Given the description of an element on the screen output the (x, y) to click on. 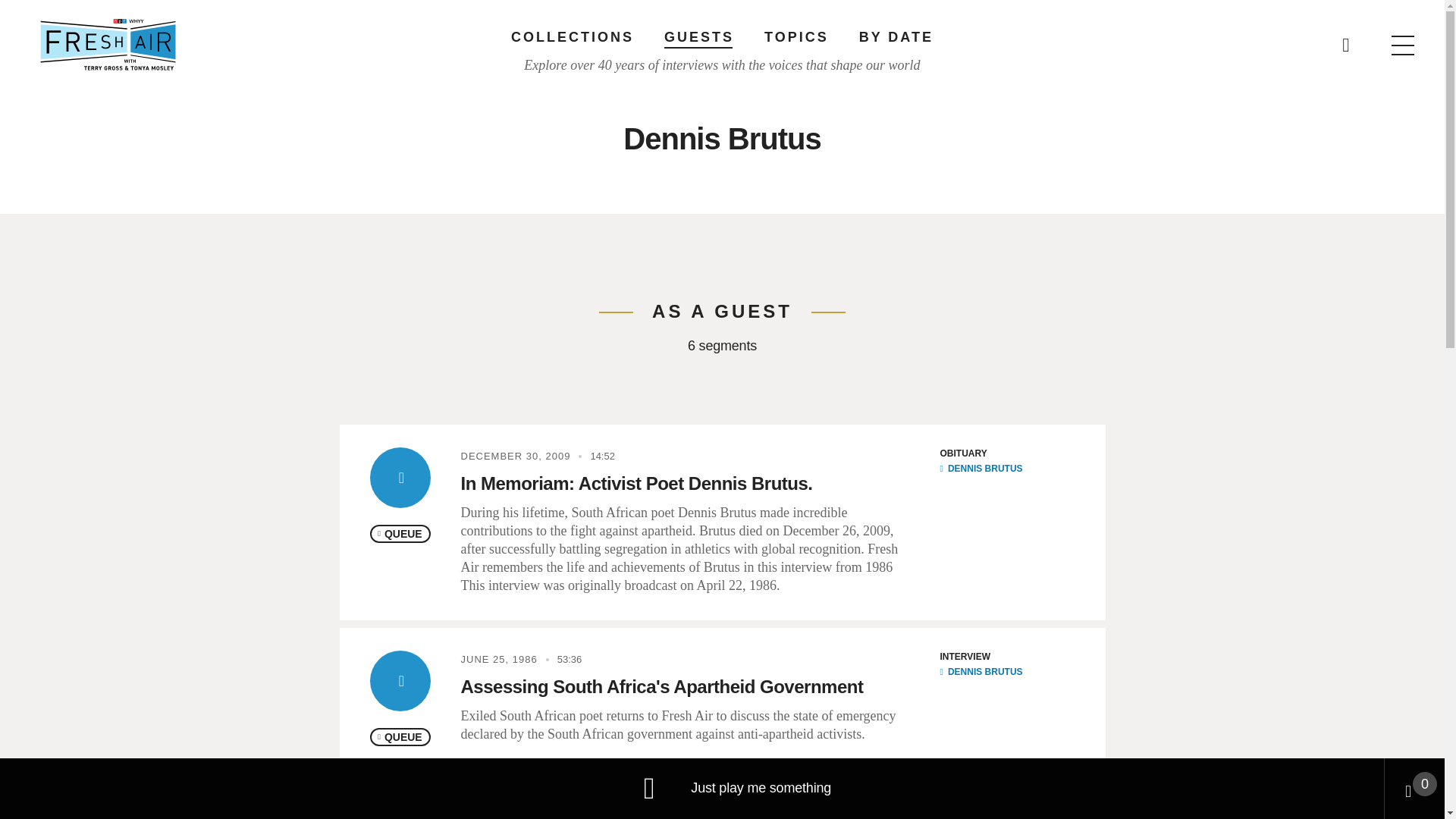
Home (108, 44)
DENNIS BRUTUS (981, 671)
In Memoriam: Activist Poet Dennis Brutus. (636, 483)
GUESTS (698, 36)
BY DATE (896, 36)
Search (964, 37)
QUEUE (399, 533)
TOPICS (796, 36)
Assessing South Africa's Apartheid Government (662, 686)
QUEUE (399, 737)
DENNIS BRUTUS (981, 468)
COLLECTIONS (572, 36)
